Given the description of an element on the screen output the (x, y) to click on. 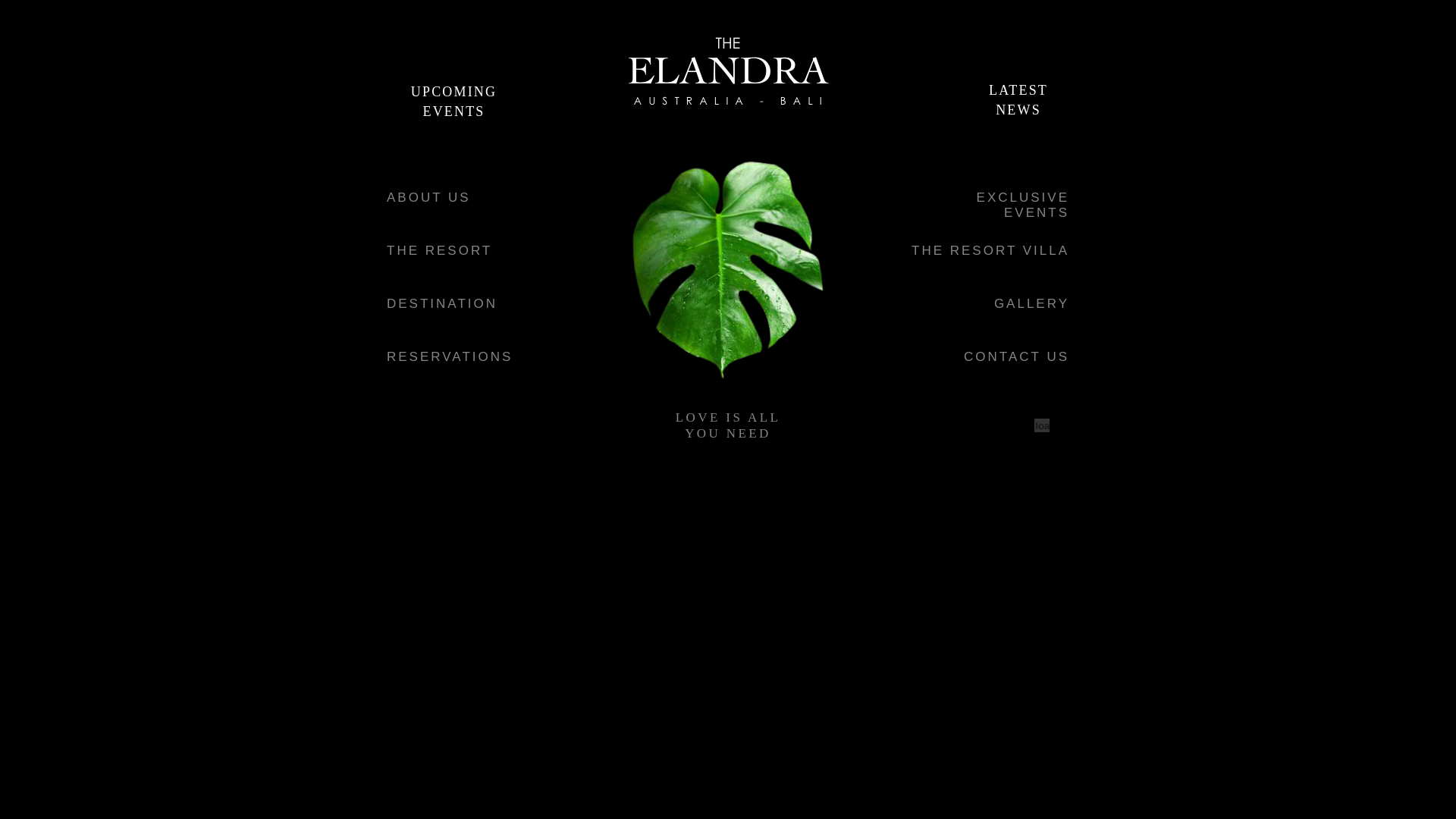
NEWS Element type: text (1018, 108)
UPCOMING EVENTS Element type: text (453, 101)
LATEST Element type: text (1018, 89)
LOVE IS ALL YOU NEED Element type: text (727, 425)
